Given the description of an element on the screen output the (x, y) to click on. 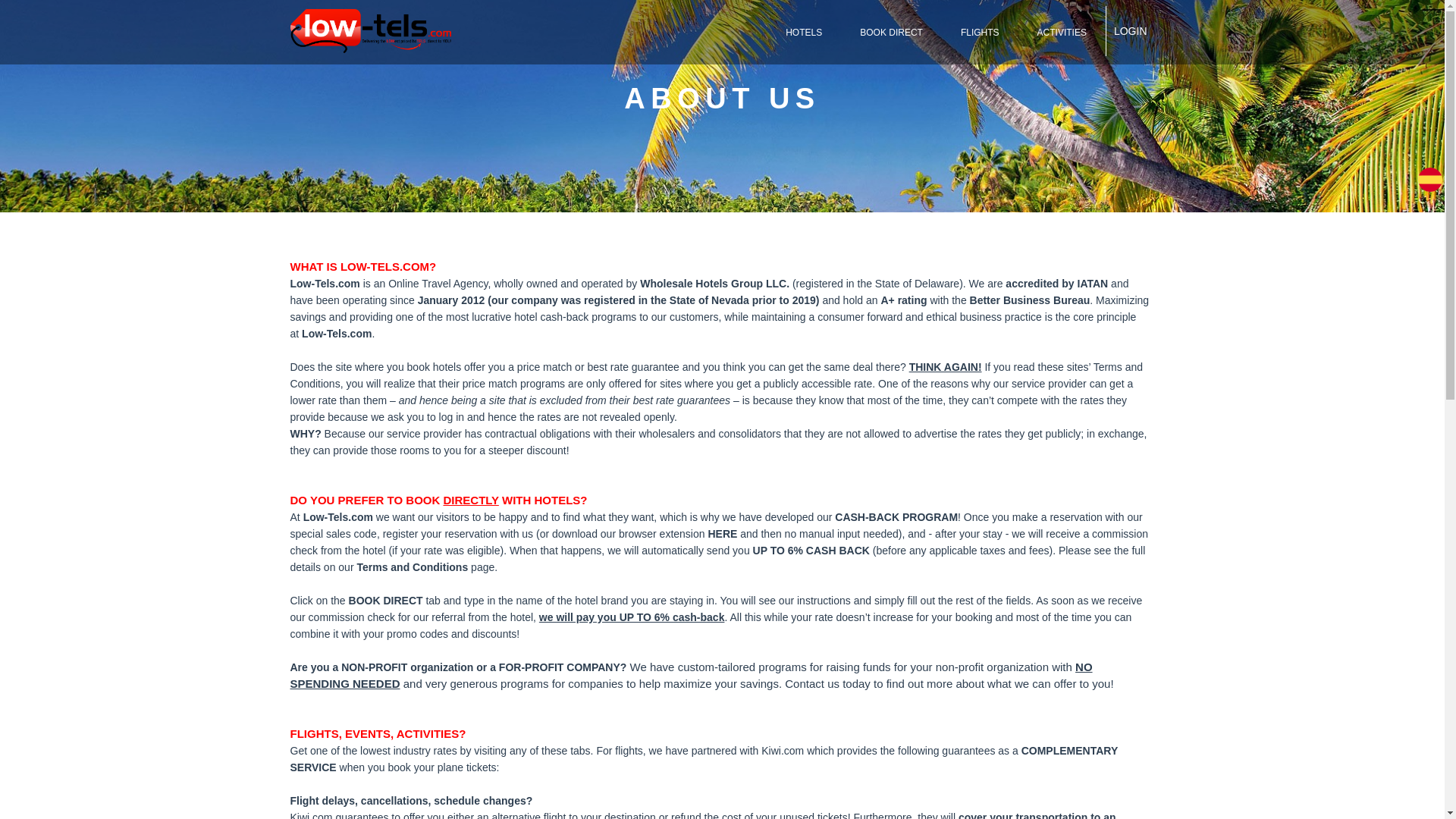
Terms and Conditions (411, 567)
FLIGHTS (979, 32)
LOGIN (1130, 30)
ACTIVITIES (1061, 32)
BOOK DIRECT (891, 32)
HERE (721, 533)
HOTELS (803, 32)
